Given the description of an element on the screen output the (x, y) to click on. 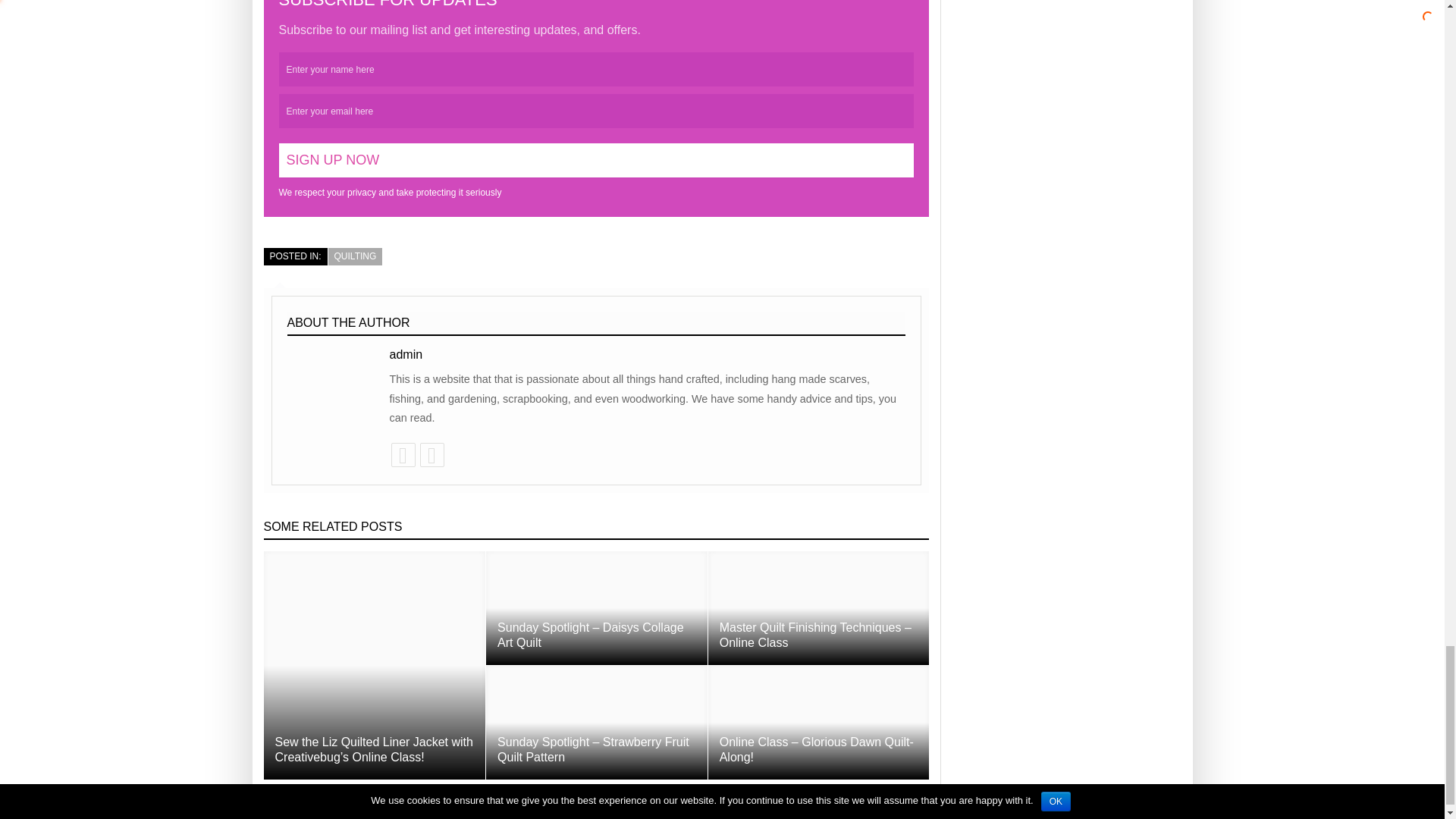
Sign Up Now (596, 160)
